Given the description of an element on the screen output the (x, y) to click on. 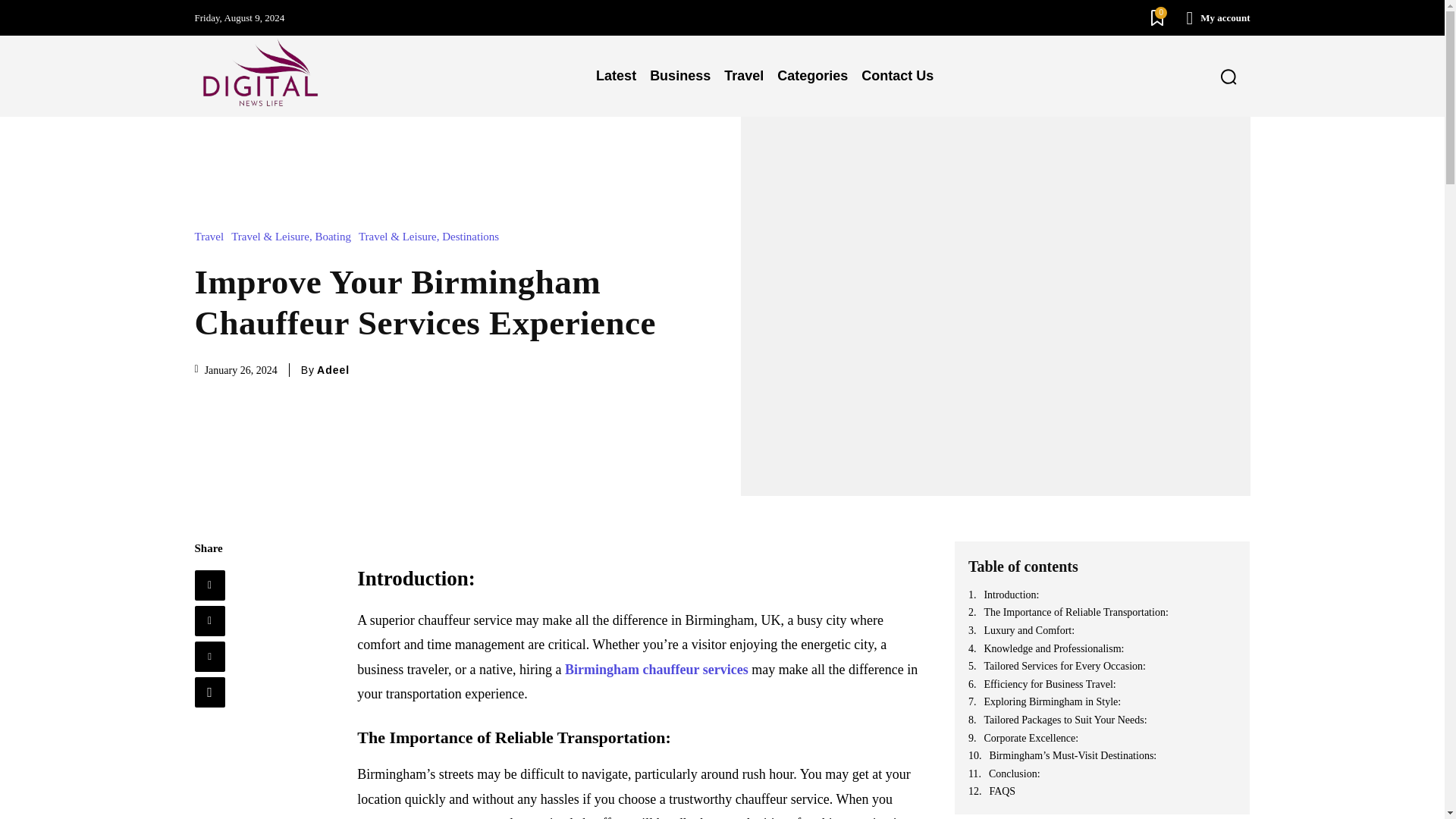
Latest (616, 75)
Travel (212, 236)
WhatsApp (208, 692)
Categories (812, 75)
Travel (743, 75)
Contact Us (897, 75)
Pinterest (208, 656)
Facebook (208, 585)
Twitter (208, 621)
Business (680, 75)
